Given the description of an element on the screen output the (x, y) to click on. 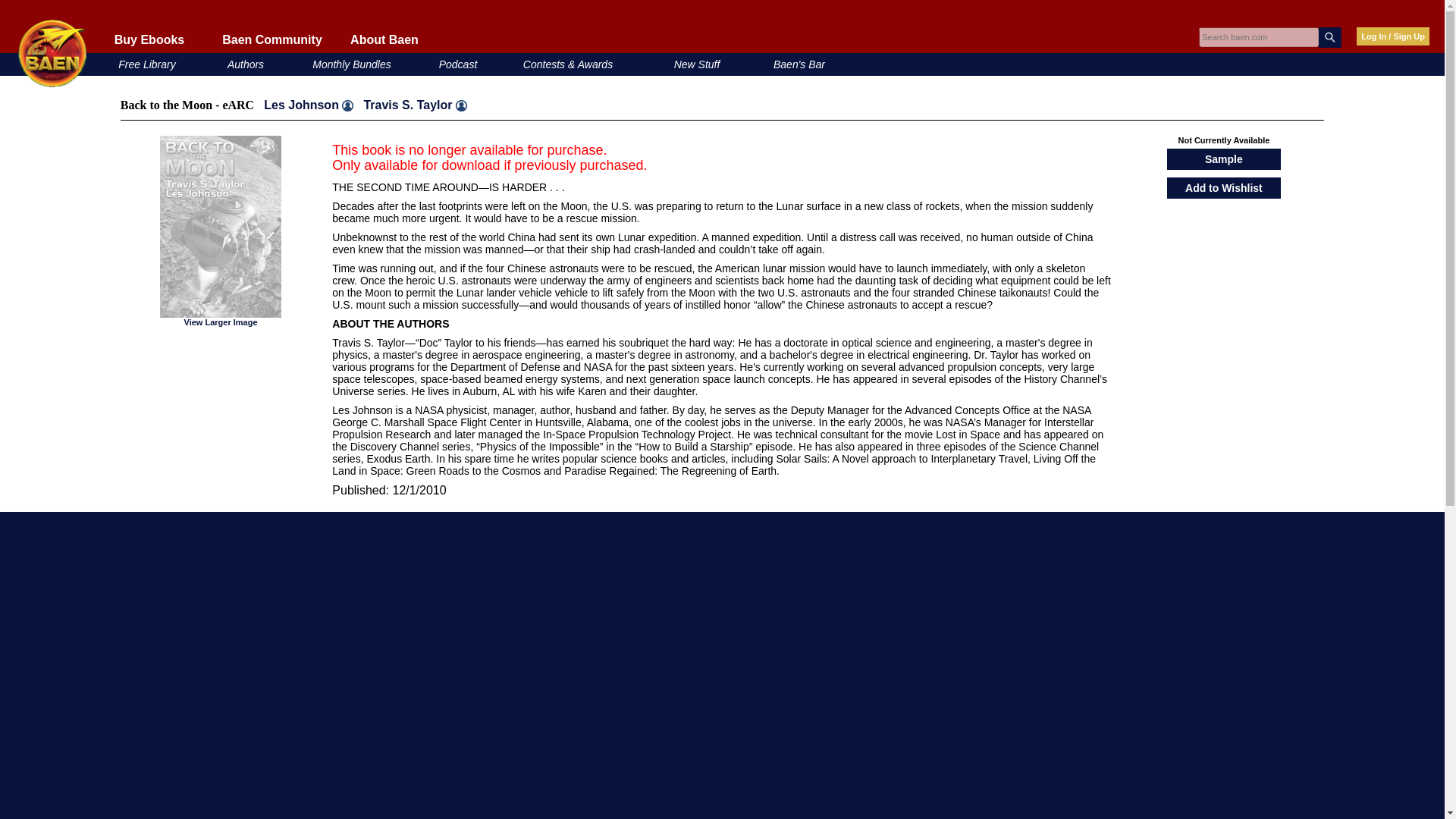
Monthly Bundles (352, 64)
New Stuff (697, 64)
Buy Ebooks (149, 40)
Baen's Bar (799, 64)
Authors (245, 64)
Free Library (145, 64)
About Baen (384, 40)
Baen Community (272, 40)
Podcast (458, 64)
